Given the description of an element on the screen output the (x, y) to click on. 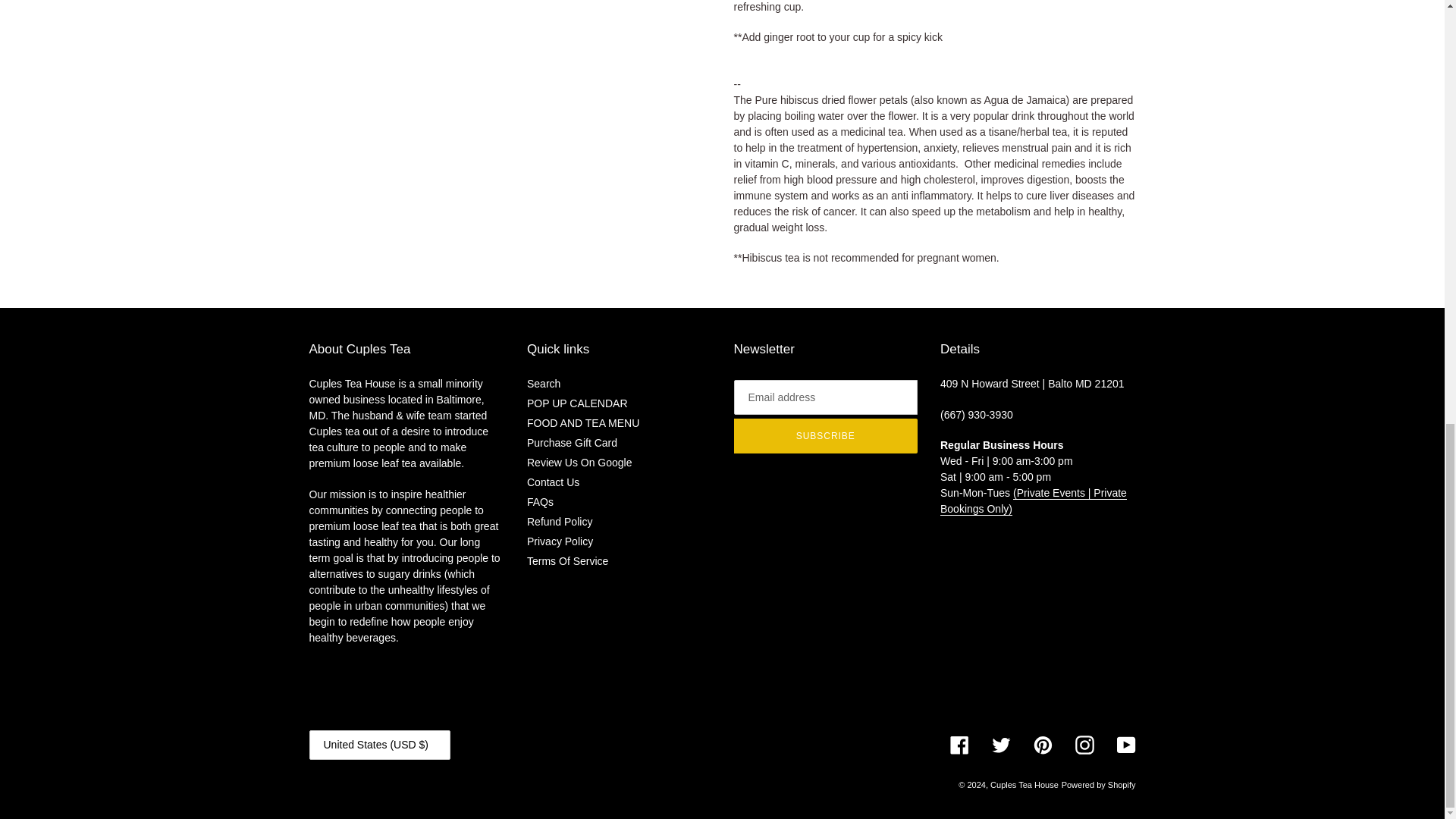
FOOD AND TEA MENU (583, 422)
Purchase Gift Card (572, 442)
Search (543, 383)
POP UP CALENDAR (577, 403)
